Given the description of an element on the screen output the (x, y) to click on. 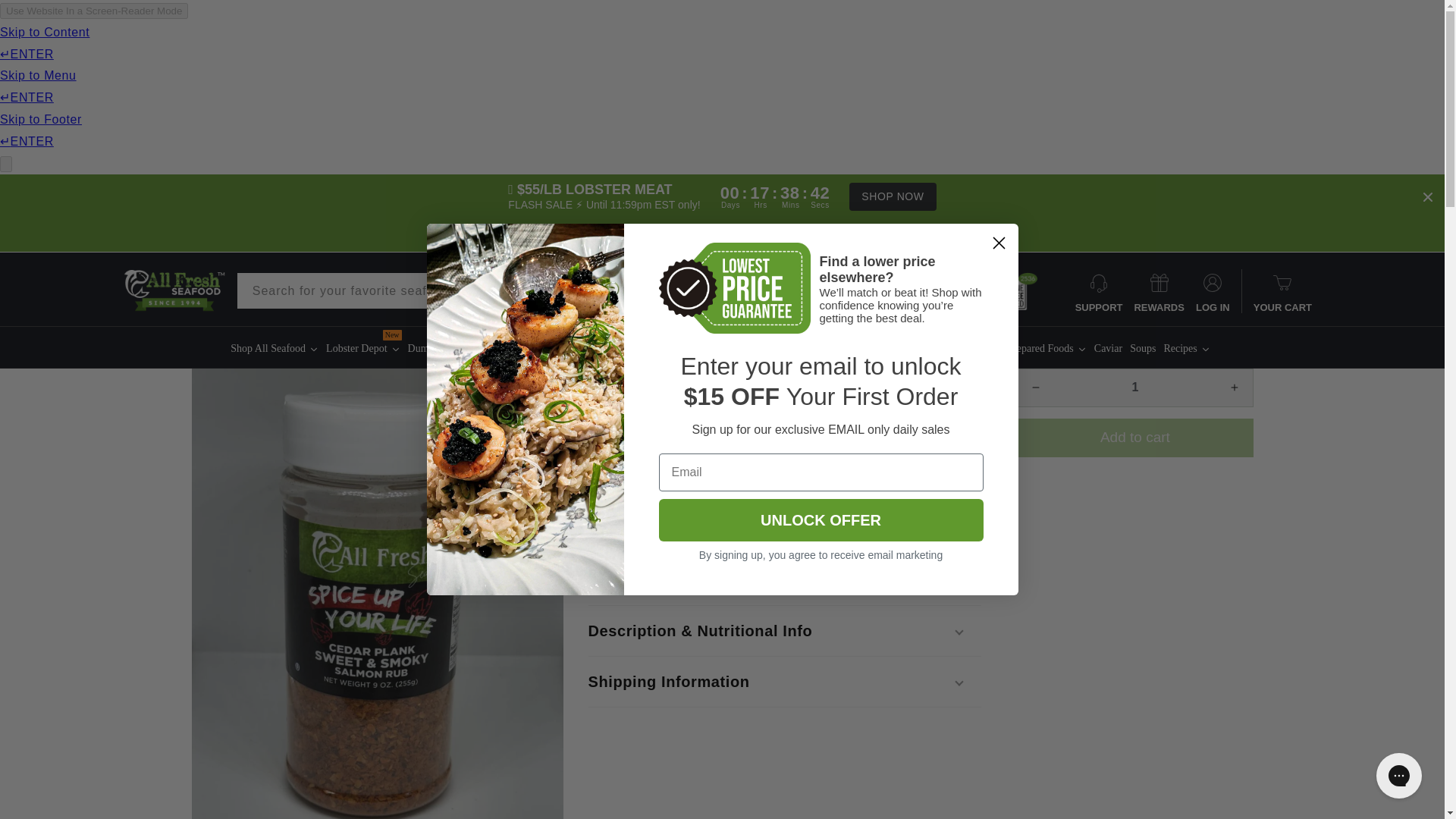
1 (1134, 387)
Skip to content (45, 17)
SHOP NOW (892, 196)
